Given the description of an element on the screen output the (x, y) to click on. 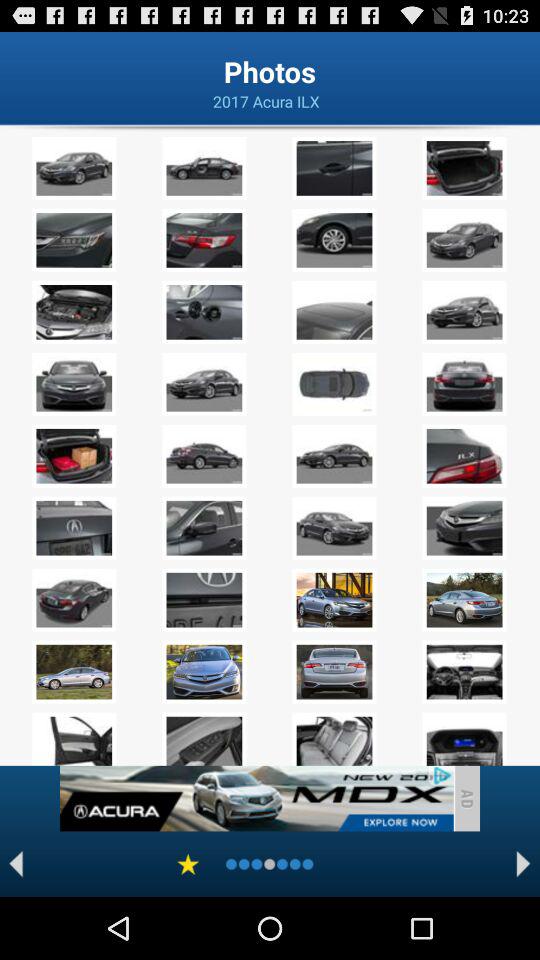
show favorites (188, 864)
